Given the description of an element on the screen output the (x, y) to click on. 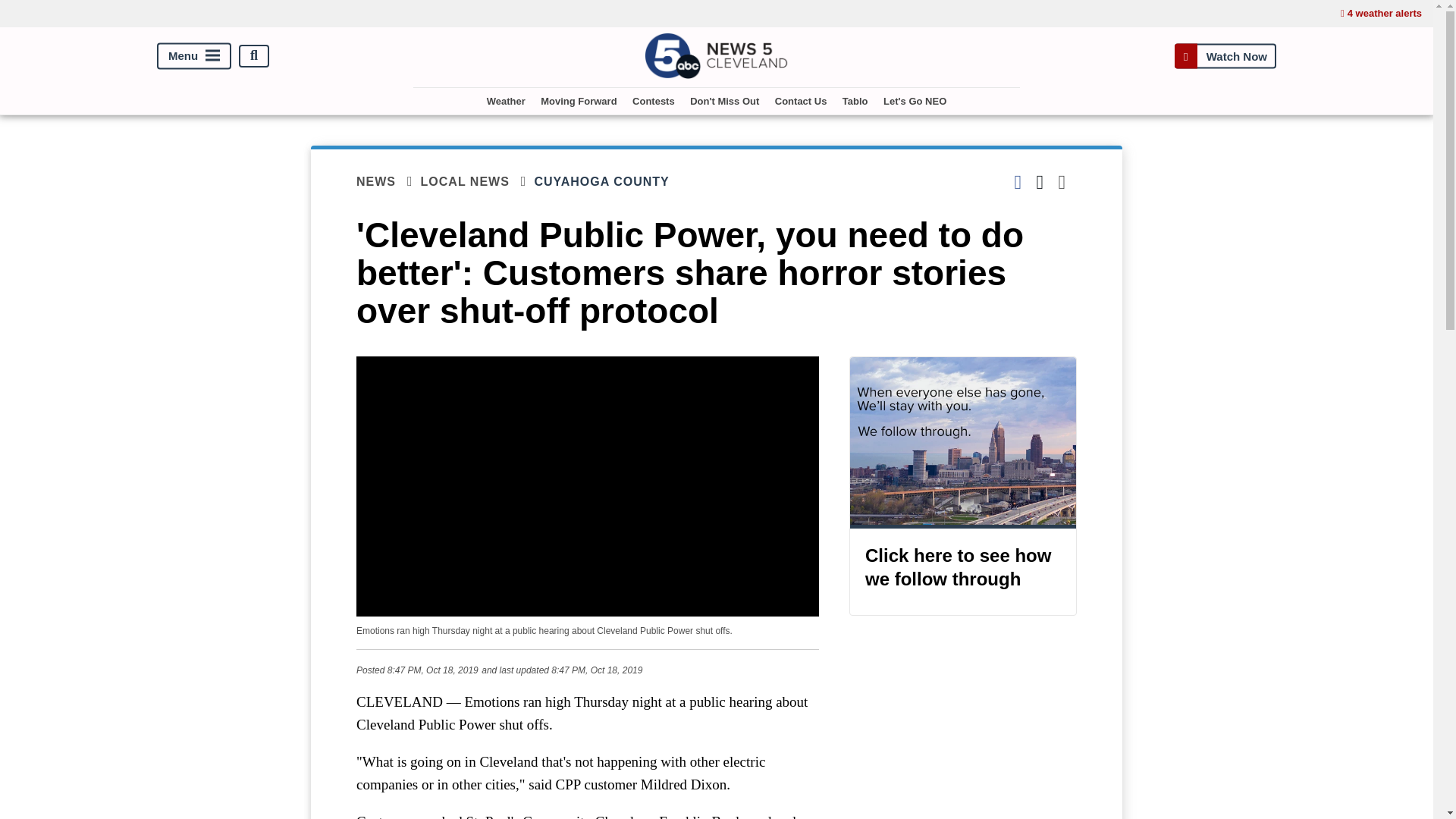
Menu (194, 55)
Watch Now (1224, 55)
